Given the description of an element on the screen output the (x, y) to click on. 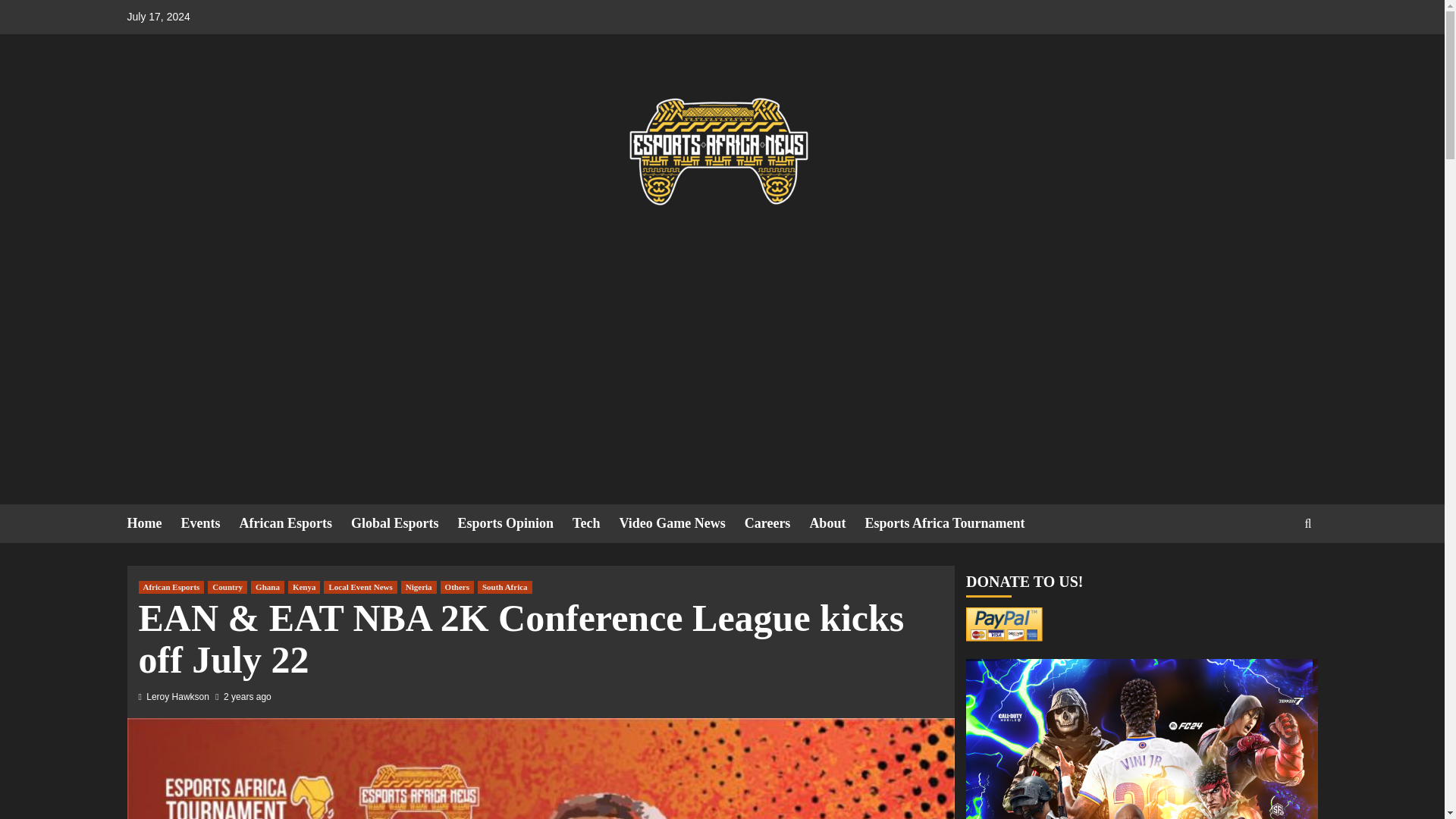
Ghana (266, 586)
South Africa (504, 586)
Tech (595, 523)
Global Esports (404, 523)
Events (209, 523)
Leroy Hawkson (178, 696)
Others (457, 586)
Nigeria (418, 586)
About (836, 523)
Esports Africa Tournament (953, 523)
Search (1307, 522)
Video Game News (681, 523)
Local Event News (359, 586)
Search (1272, 570)
